Given the description of an element on the screen output the (x, y) to click on. 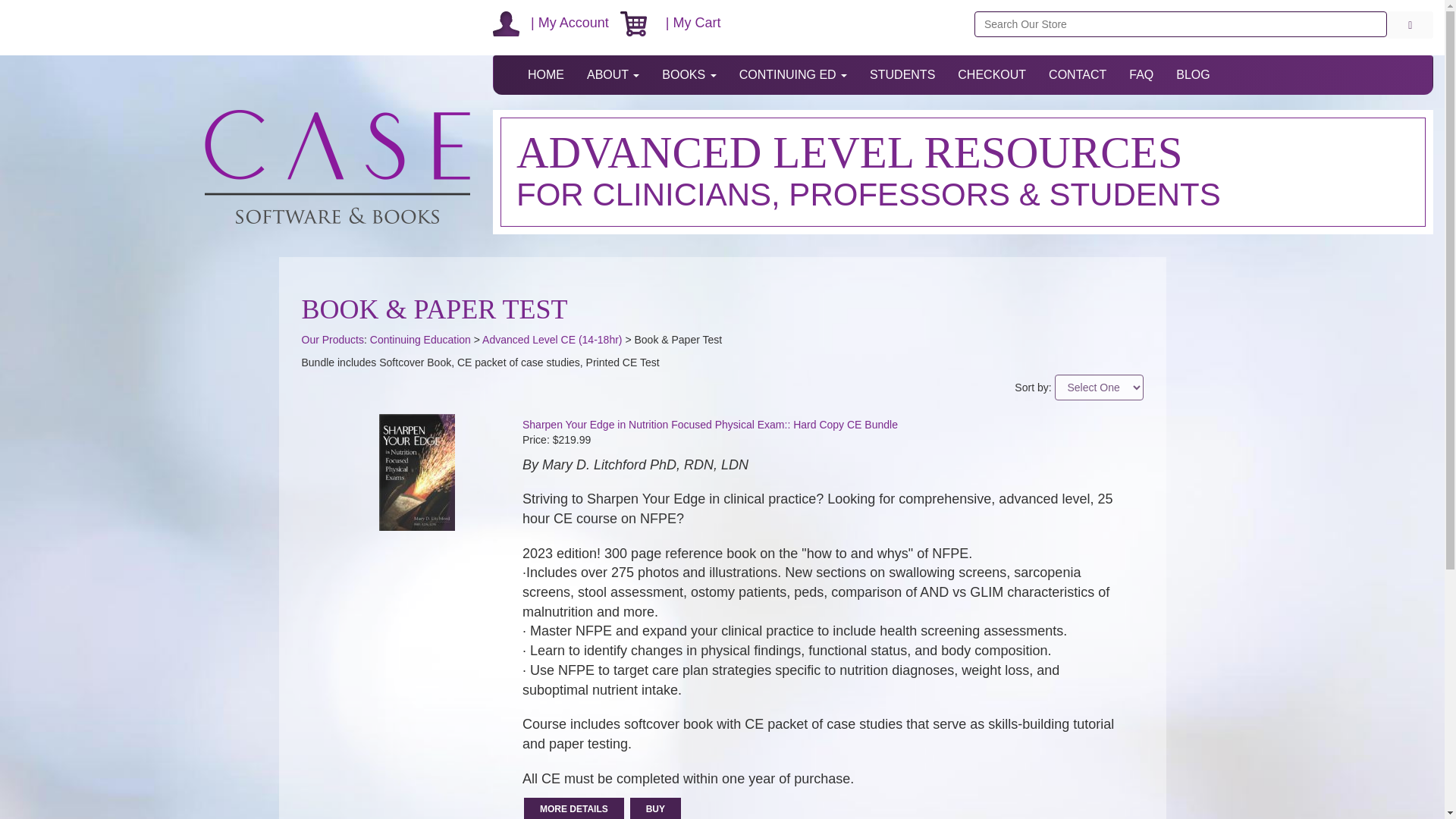
HOME (545, 75)
STUDENTS (902, 75)
FAQ (1141, 75)
BOOKS (688, 75)
BUY (655, 808)
MORE DETAILS (574, 808)
CHECKOUT (991, 75)
CONTACT (1077, 75)
CONTINUING ED (793, 75)
ABOUT (612, 75)
BLOG (1192, 75)
Continuing Education (419, 339)
Our Products (332, 339)
